Given the description of an element on the screen output the (x, y) to click on. 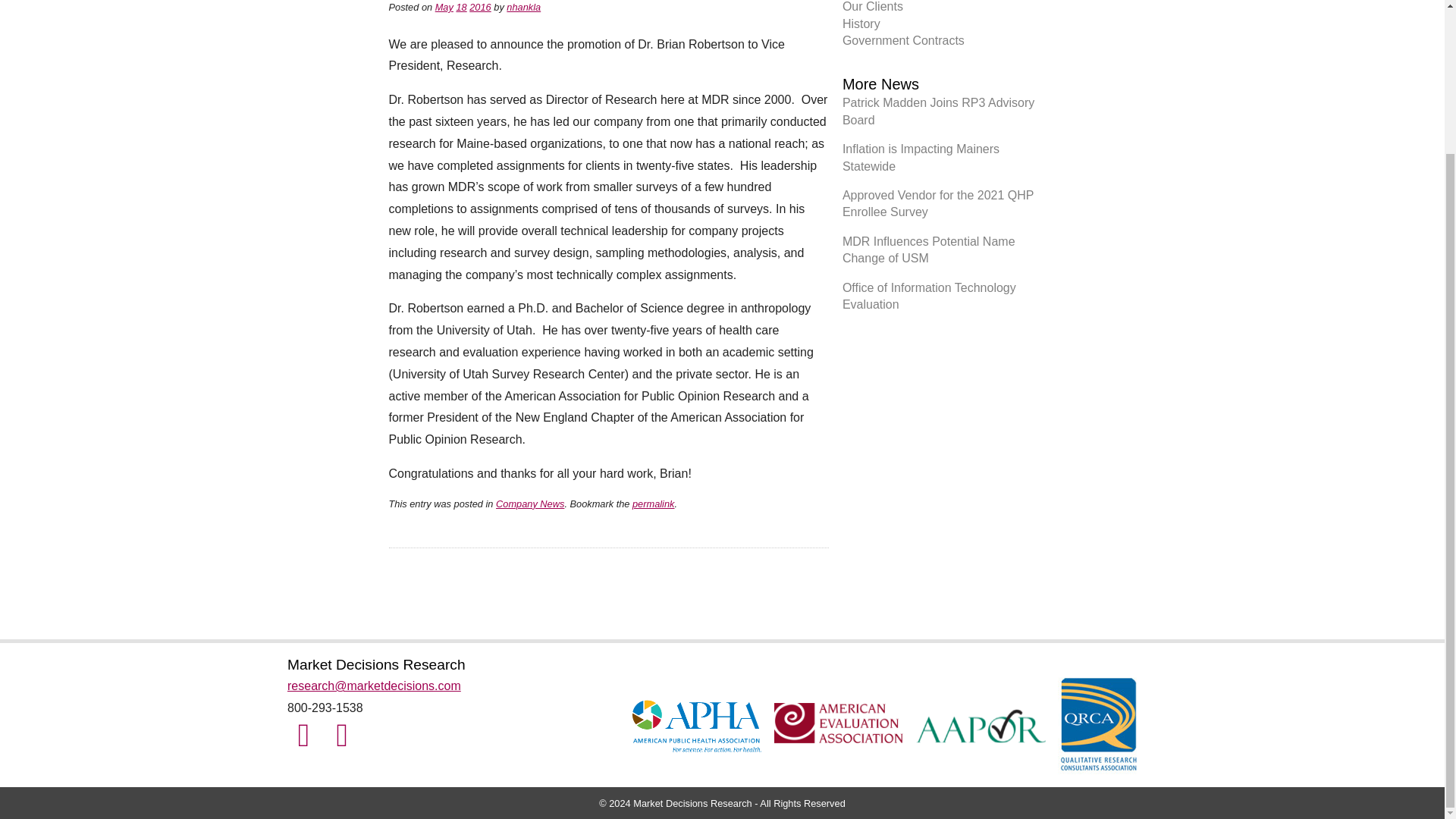
View Archives for May 2016 (443, 7)
View all posts by nhankla (523, 7)
View Archives for May 18 2016 (460, 7)
View Archives for 2016 (479, 7)
